Given the description of an element on the screen output the (x, y) to click on. 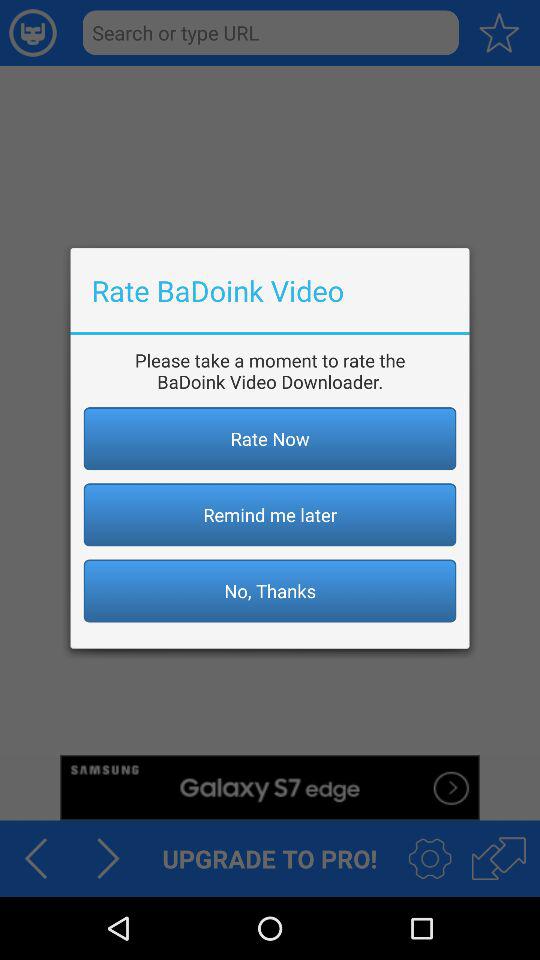
scroll to no, thanks item (269, 590)
